Given the description of an element on the screen output the (x, y) to click on. 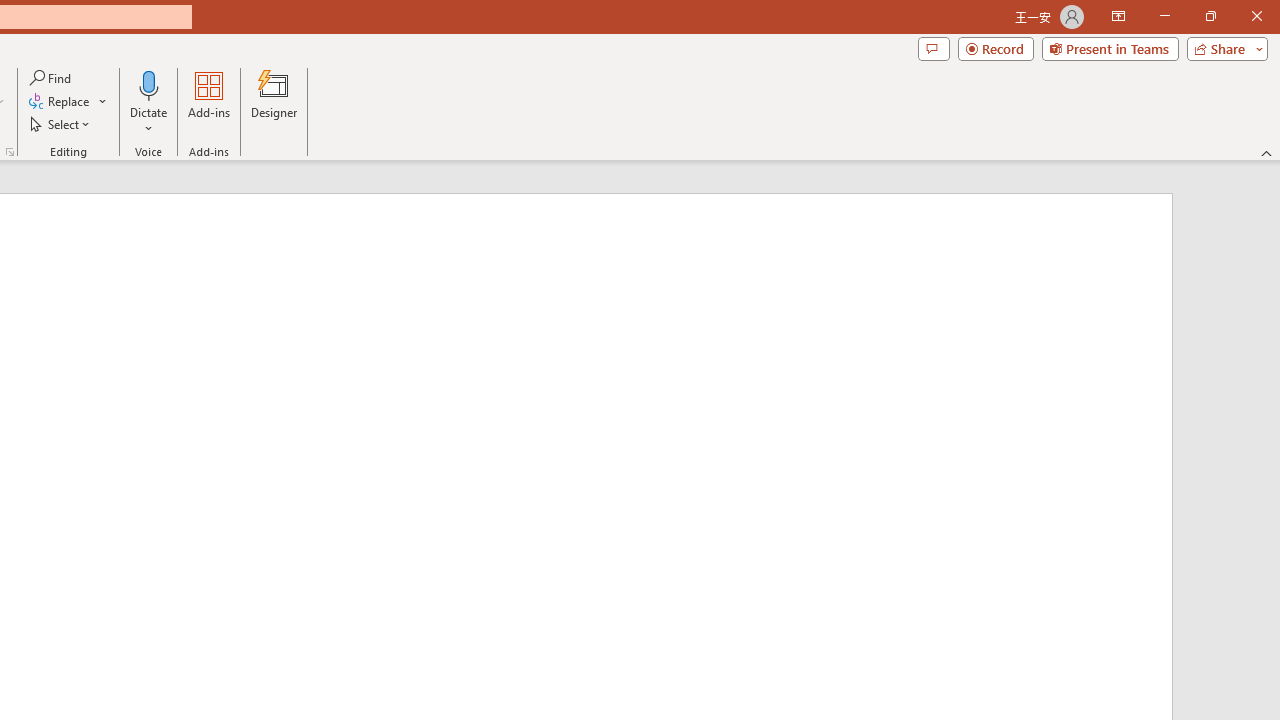
Replace... (60, 101)
